Given the description of an element on the screen output the (x, y) to click on. 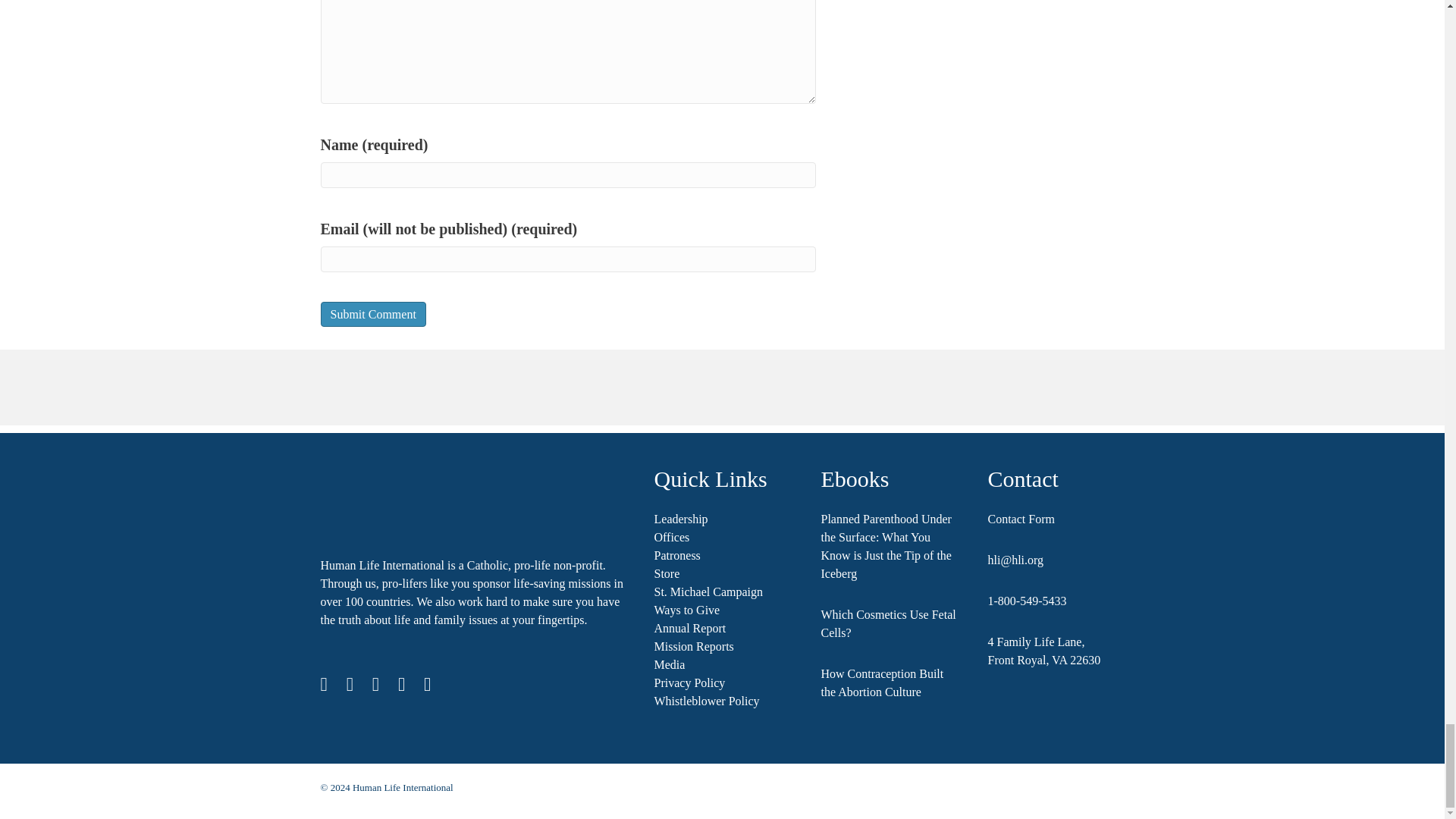
Submit Comment (372, 314)
human-life-international-white-logo (445, 494)
